Given the description of an element on the screen output the (x, y) to click on. 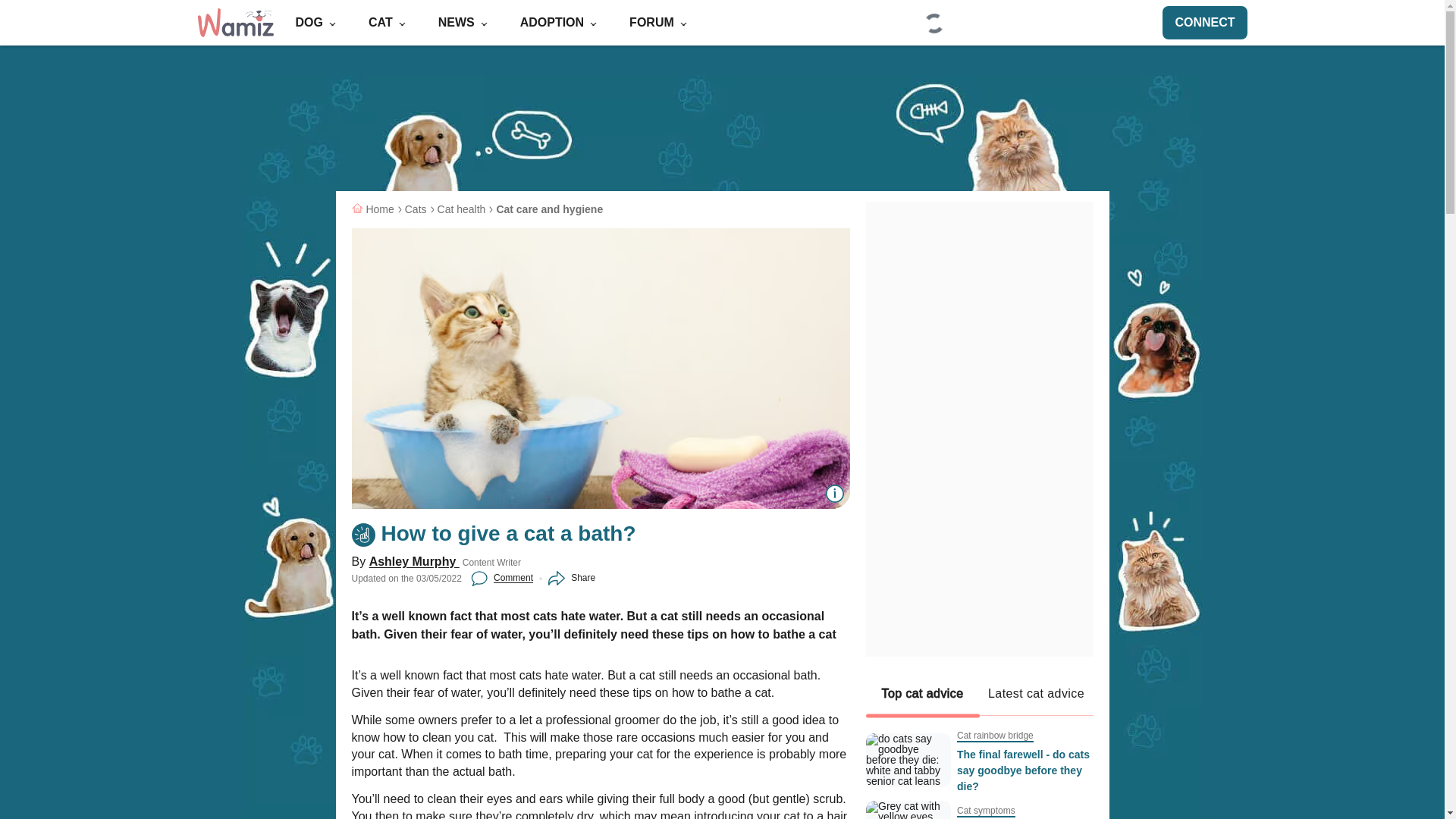
DOG (315, 23)
see image information (834, 493)
Comment (501, 578)
